Given the description of an element on the screen output the (x, y) to click on. 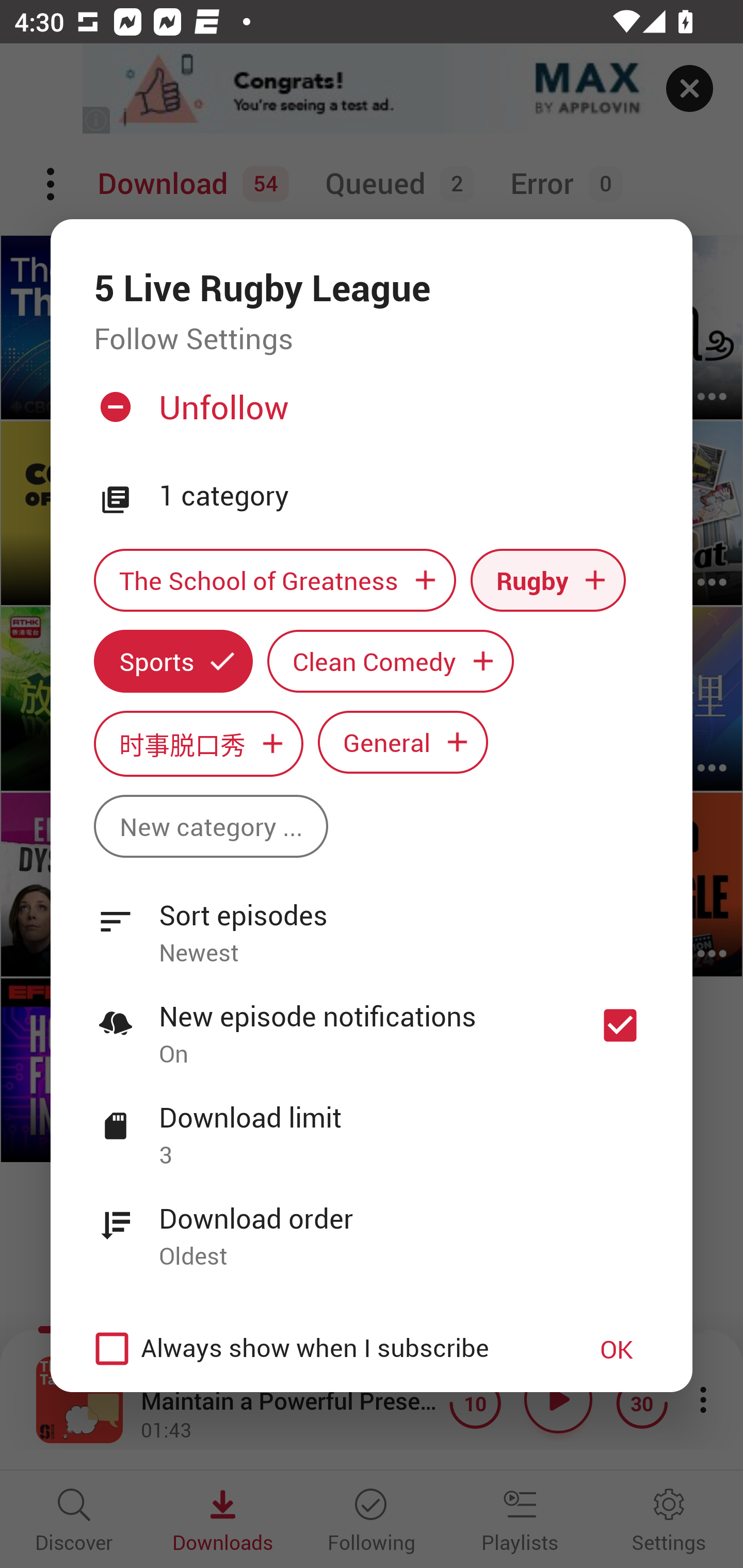
Unfollow (369, 415)
1 category (404, 495)
The School of Greatness (274, 579)
Rugby (547, 579)
Sports (172, 661)
Clean Comedy (390, 661)
时事脱口秀 (198, 743)
General (403, 741)
New category ... (210, 825)
Sort episodes Newest (371, 922)
New episode notifications (620, 1025)
Download limit 3 (371, 1125)
Download order Oldest (371, 1226)
OK (616, 1349)
Always show when I subscribe (320, 1349)
